Given the description of an element on the screen output the (x, y) to click on. 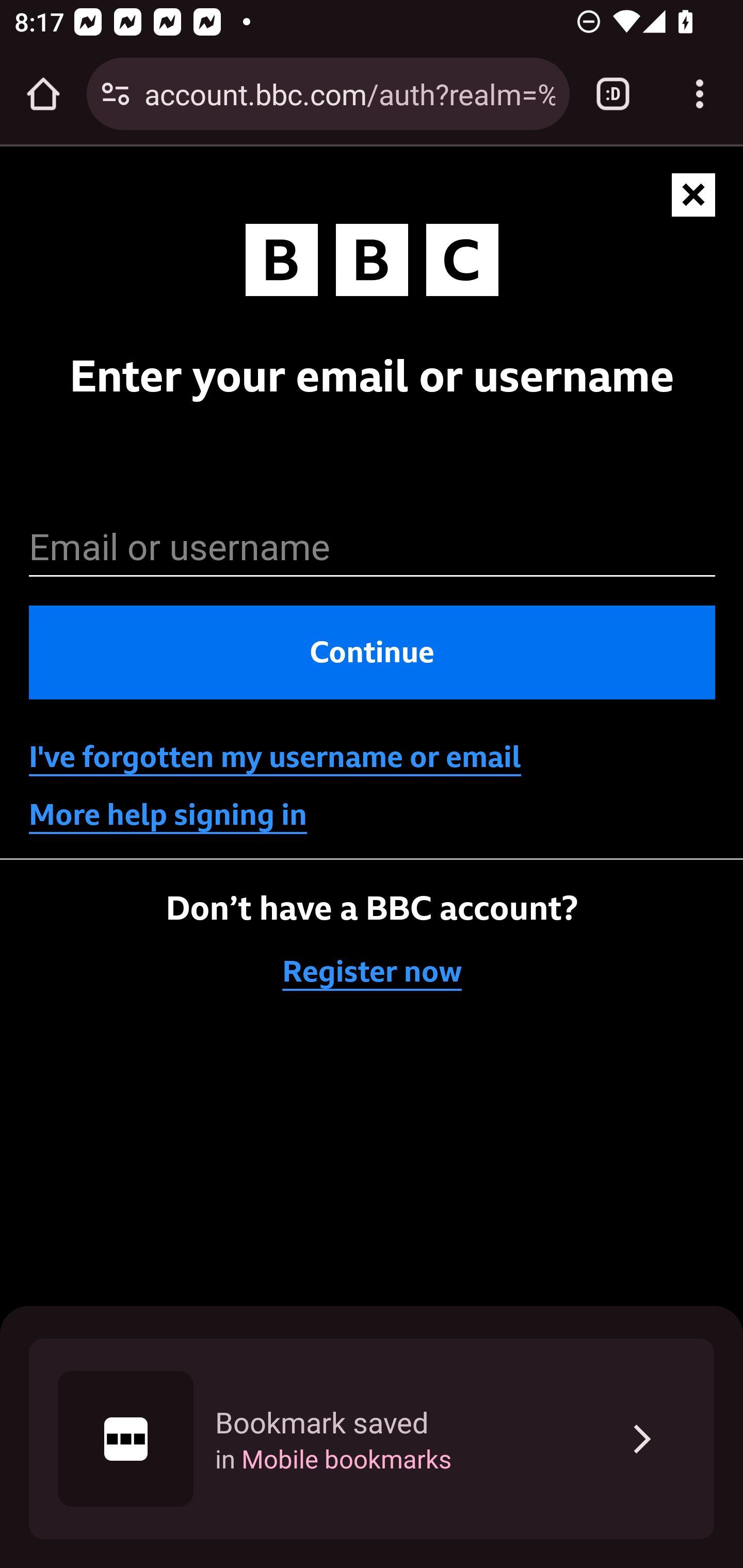
Open the home page (43, 93)
Connection is secure (115, 93)
Switch or close tabs (612, 93)
Customize and control Google Chrome (699, 93)
Close and return to where you originally came from (694, 195)
Go to the BBC Homepage (371, 264)
Continue (372, 652)
I've forgotten my username or email (274, 757)
More help signing in (168, 815)
Register now (372, 971)
Edit folder Bookmark saved in Mobile bookmarks (371, 1439)
